Given the description of an element on the screen output the (x, y) to click on. 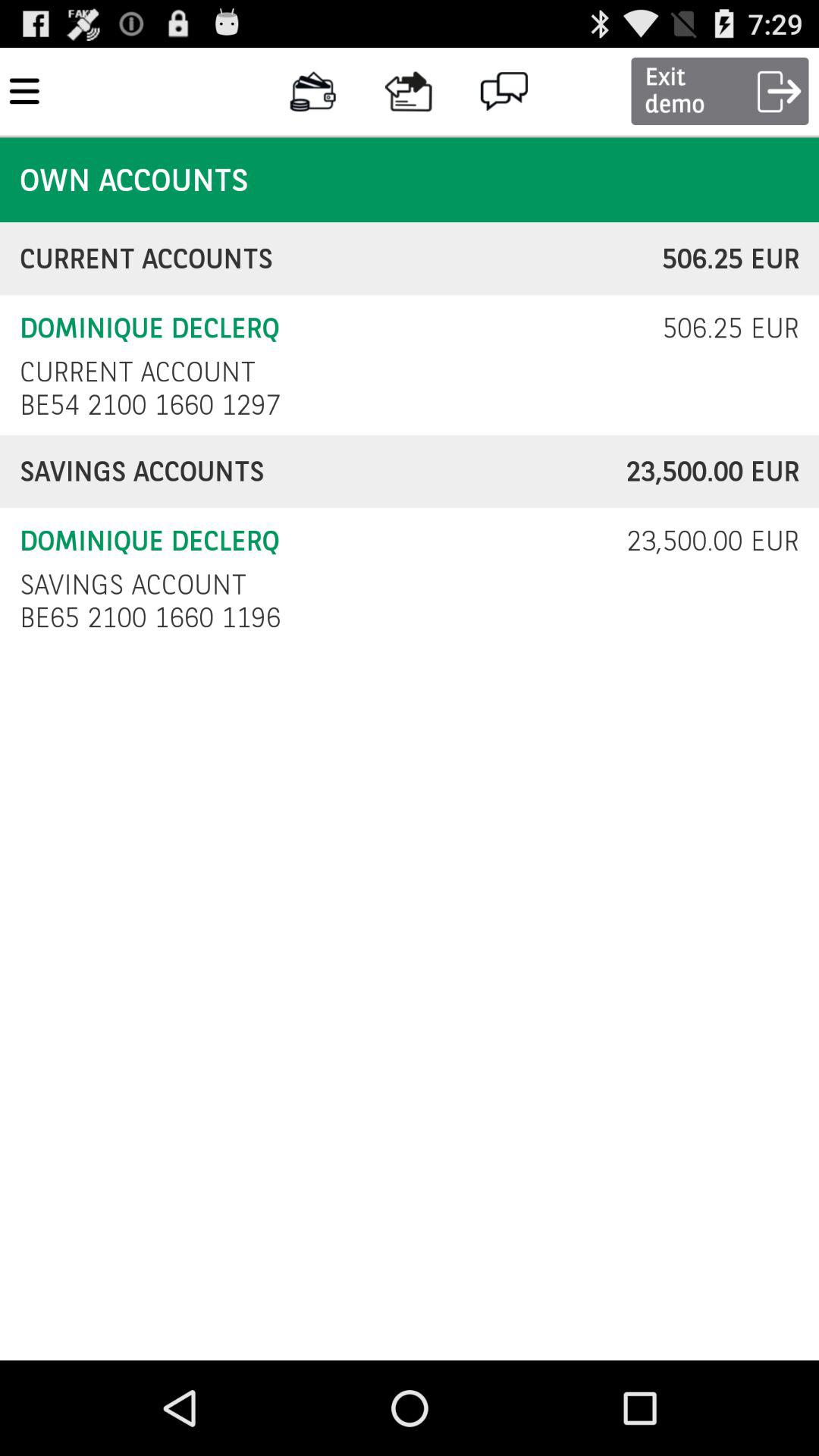
select icon next to 23 500 00 icon (132, 584)
